Given the description of an element on the screen output the (x, y) to click on. 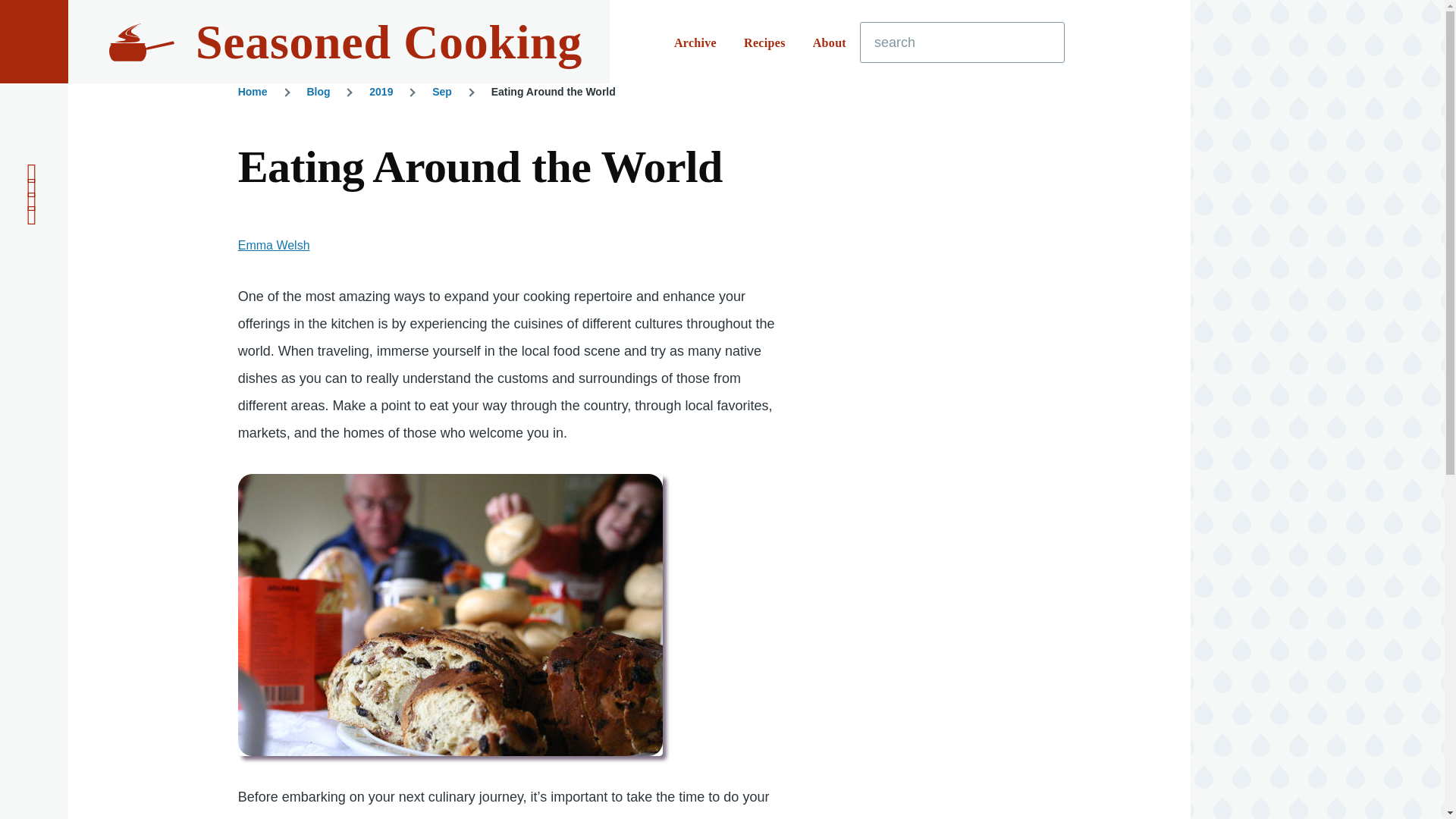
Emma Welsh (274, 245)
Seasoned Cooking (388, 41)
Blog (317, 91)
Skip to main content (595, 6)
Advertisement (970, 720)
Home (252, 91)
Home (388, 41)
Sep (441, 91)
2019 (381, 91)
